Given the description of an element on the screen output the (x, y) to click on. 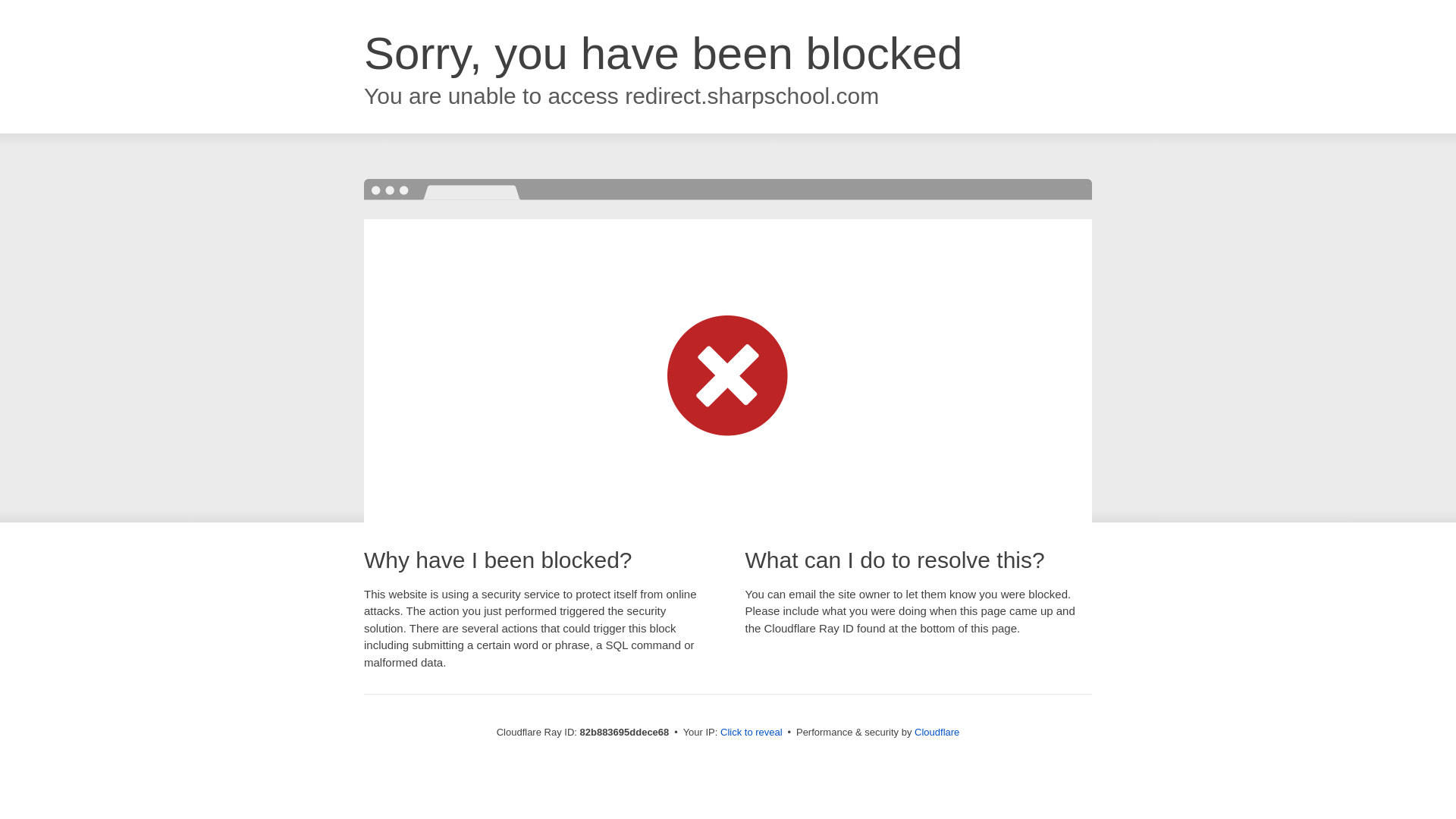
Cloudflare Element type: text (936, 731)
Click to reveal Element type: text (751, 732)
